Given the description of an element on the screen output the (x, y) to click on. 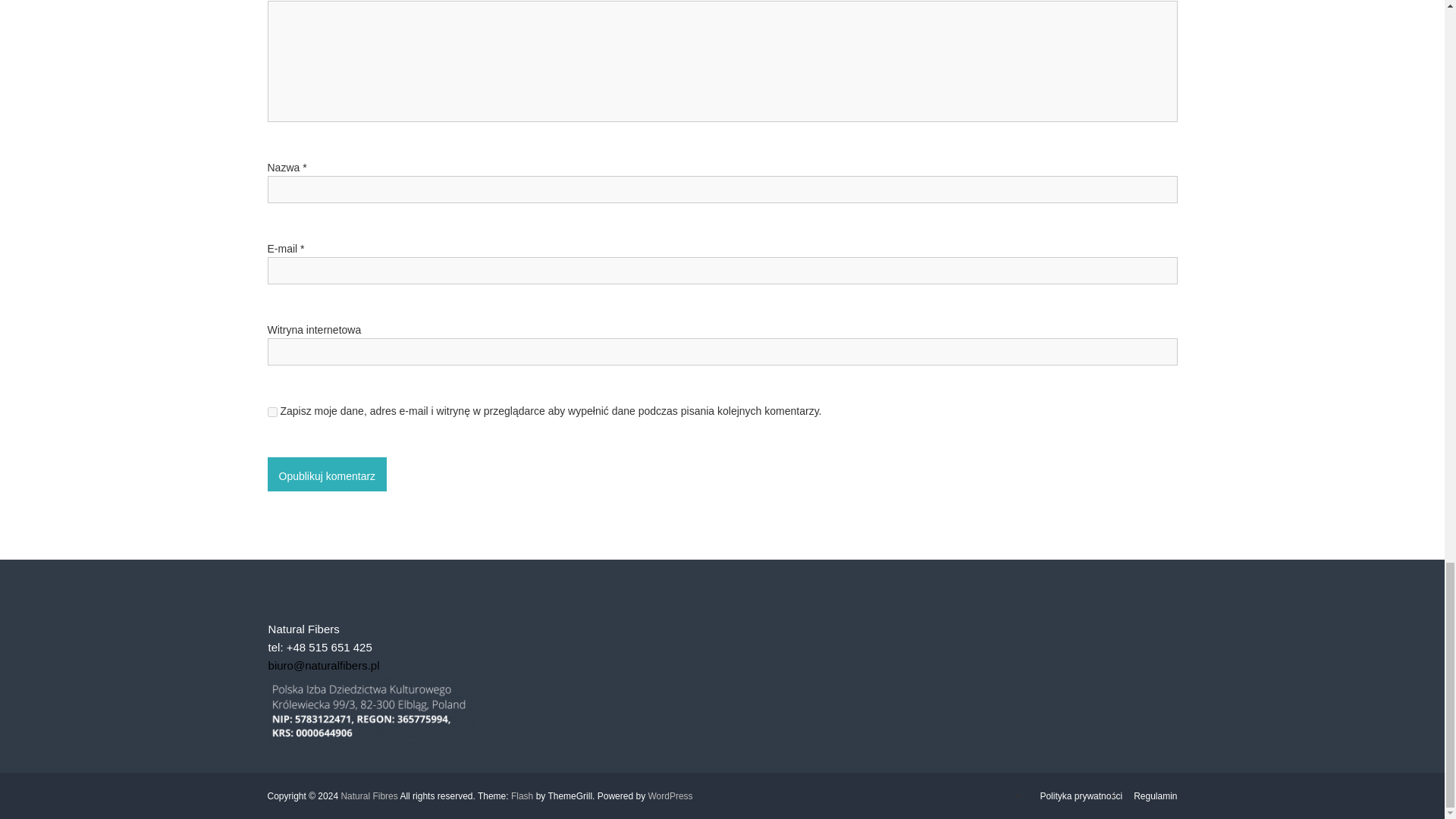
WordPress (670, 796)
yes (271, 411)
Opublikuj komentarz (326, 474)
Flash (521, 796)
Natural Fibres (368, 796)
Regulamin (1155, 796)
Opublikuj komentarz (326, 474)
